Given the description of an element on the screen output the (x, y) to click on. 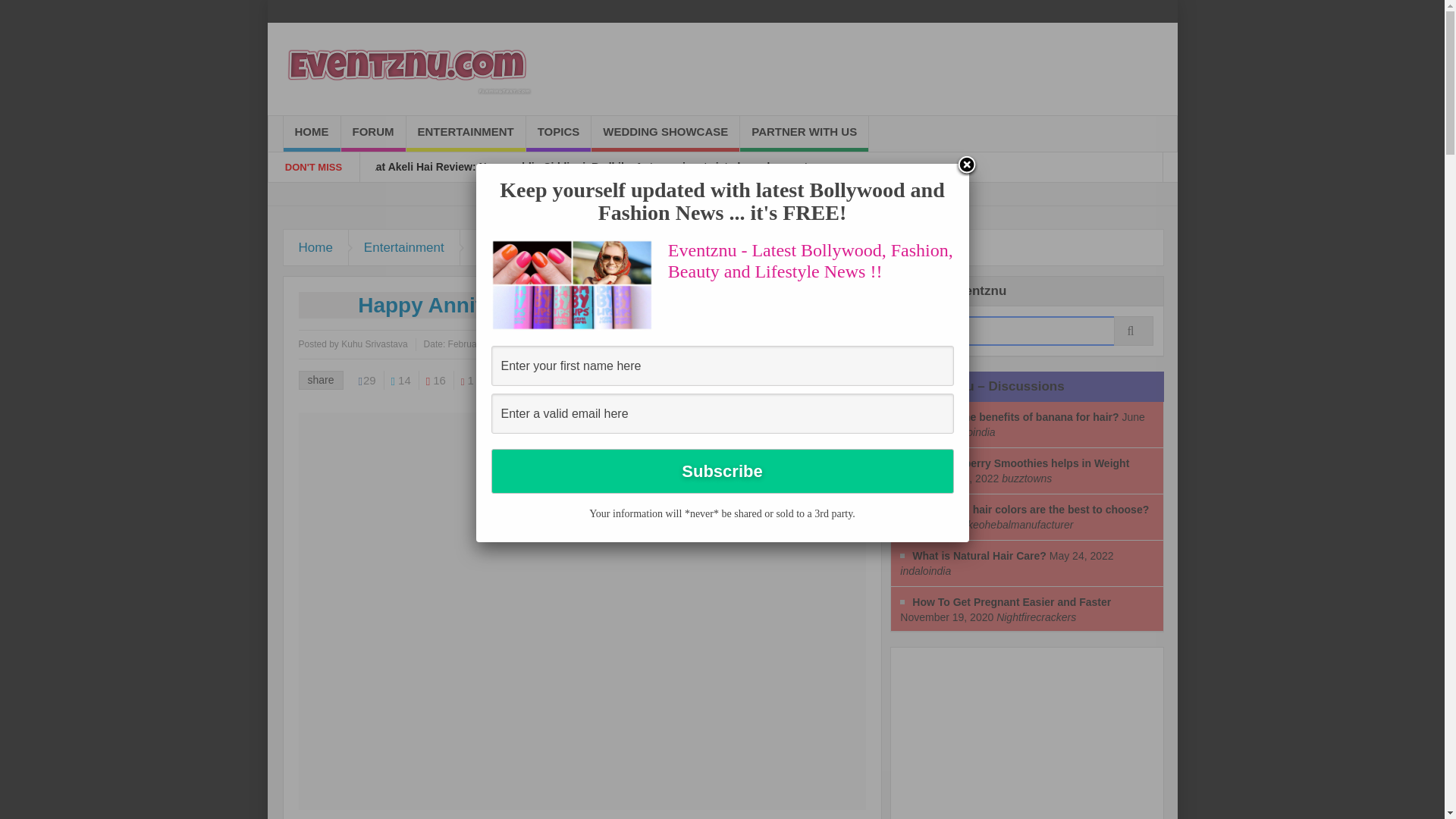
Subscribe (722, 470)
Search for: (1027, 330)
Search (1027, 330)
WEDDING SHOWCASE (665, 133)
Bollywood (505, 247)
Close (966, 165)
Advertisement (1014, 738)
Entertainment (404, 247)
FORUM (373, 133)
Kuhu Srivastava (373, 344)
Entertainment (404, 247)
PARTNER WITH US (803, 133)
Home (316, 247)
ENTERTAINMENT (465, 133)
